Given the description of an element on the screen output the (x, y) to click on. 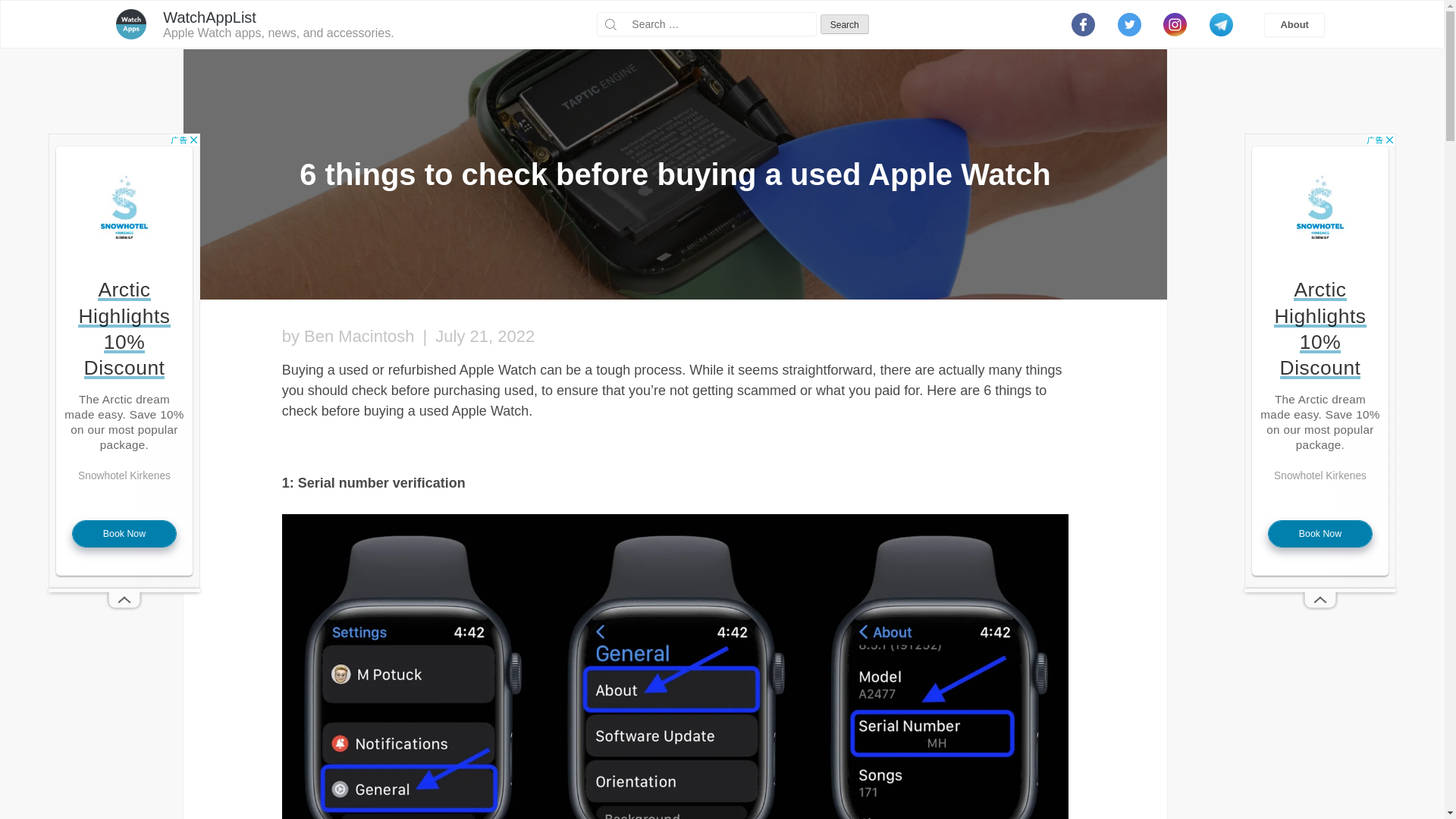
Search (845, 24)
WatchAppList (209, 17)
Search (845, 24)
About (1293, 24)
Search (845, 24)
